Given the description of an element on the screen output the (x, y) to click on. 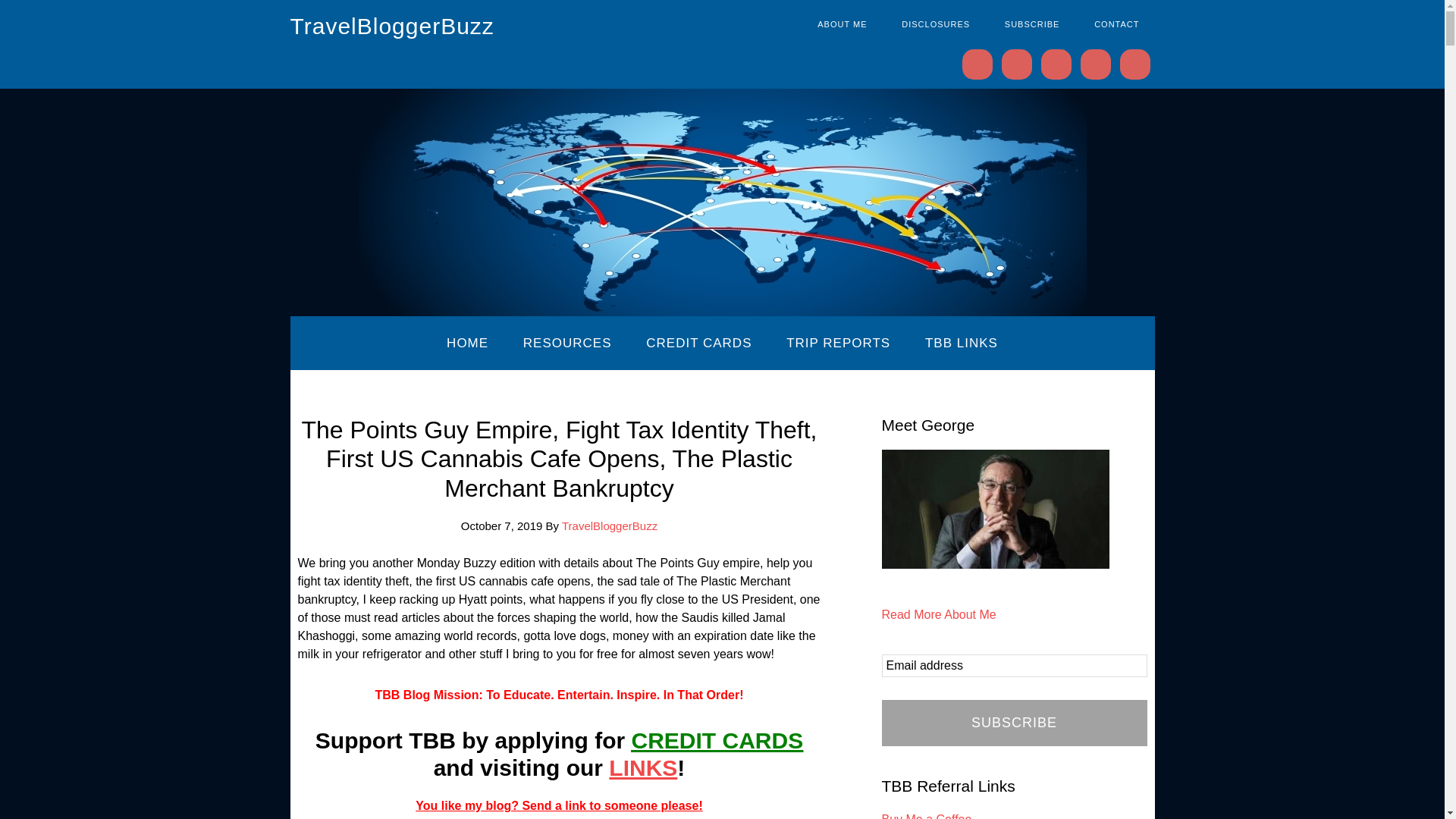
DISCLOSURES (935, 24)
CONTACT (1116, 24)
SUBSCRIBE (1032, 24)
LINKS (642, 767)
Subscribe (1013, 723)
TravelBloggerBuzz (610, 525)
ABOUT ME (842, 24)
Buy Me a Coffee TBB  (925, 816)
HOME (466, 343)
RESOURCES (567, 343)
CREDIT CARDS (716, 740)
TravelBloggerBuzz (391, 25)
TRIP REPORTS (838, 343)
TBB LINKS (961, 343)
